Given the description of an element on the screen output the (x, y) to click on. 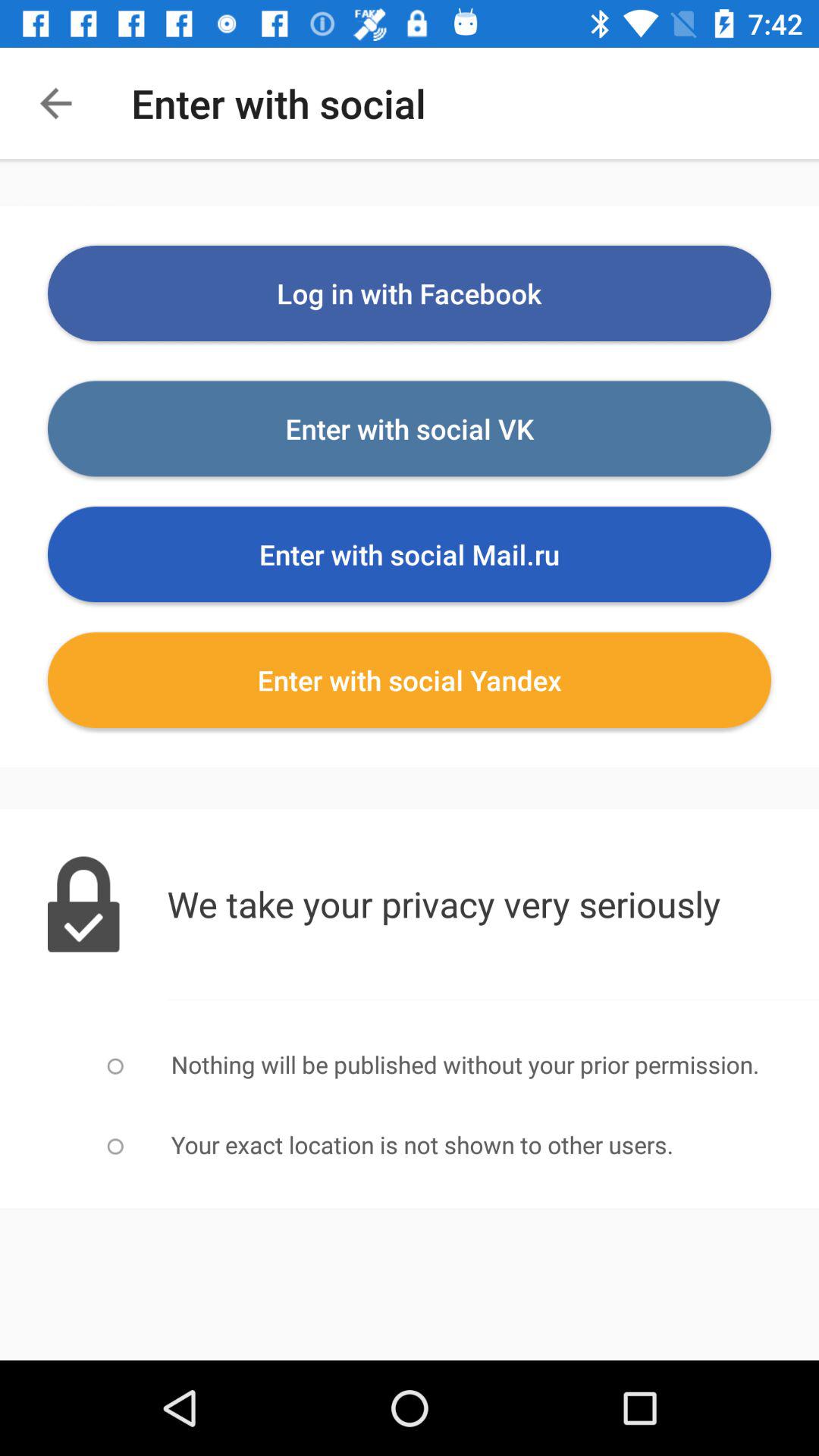
scroll until log in with (409, 293)
